Given the description of an element on the screen output the (x, y) to click on. 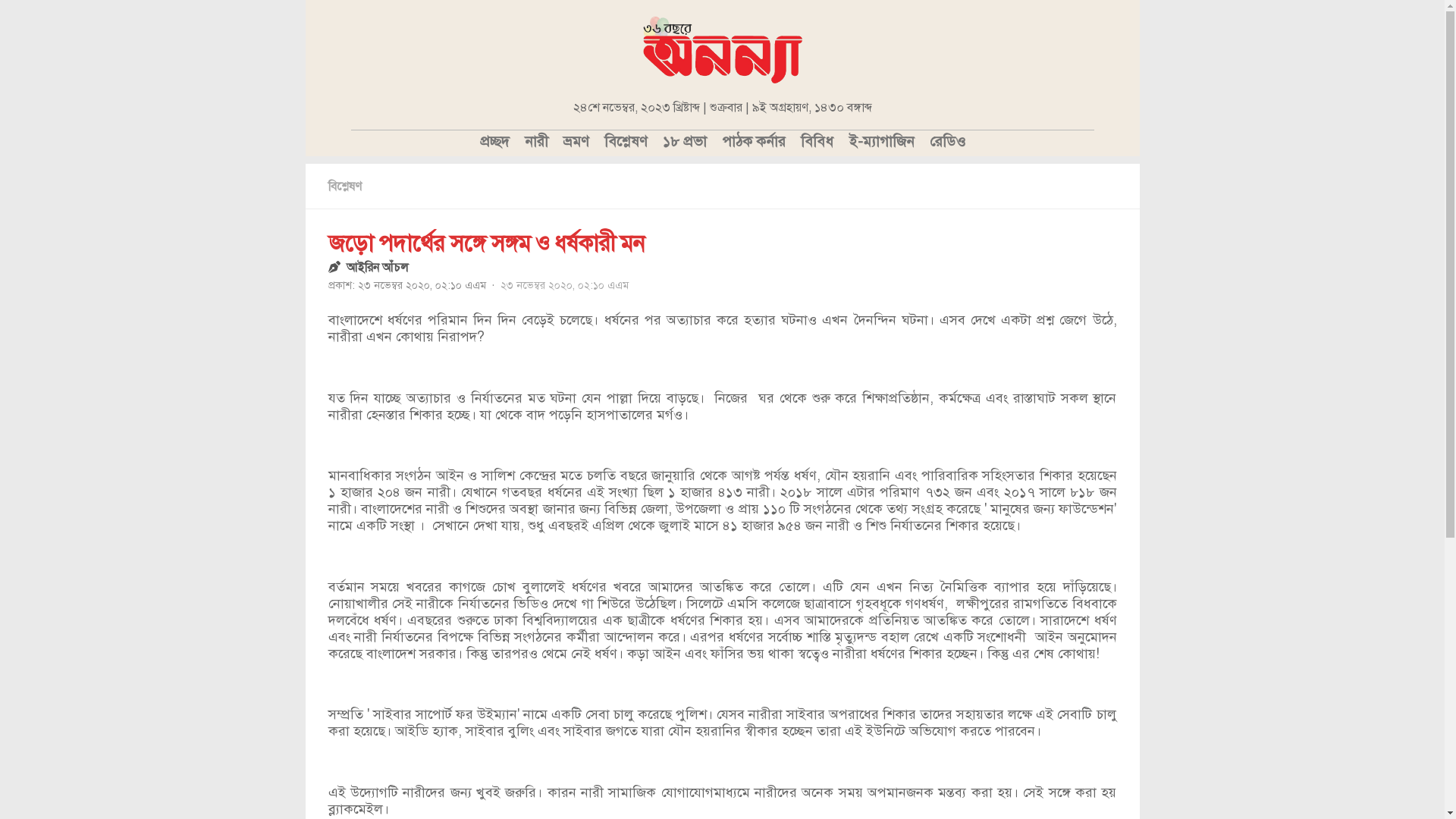
36 Logo Element type: hover (722, 49)
Skip to content Element type: text (0, 0)
